Given the description of an element on the screen output the (x, y) to click on. 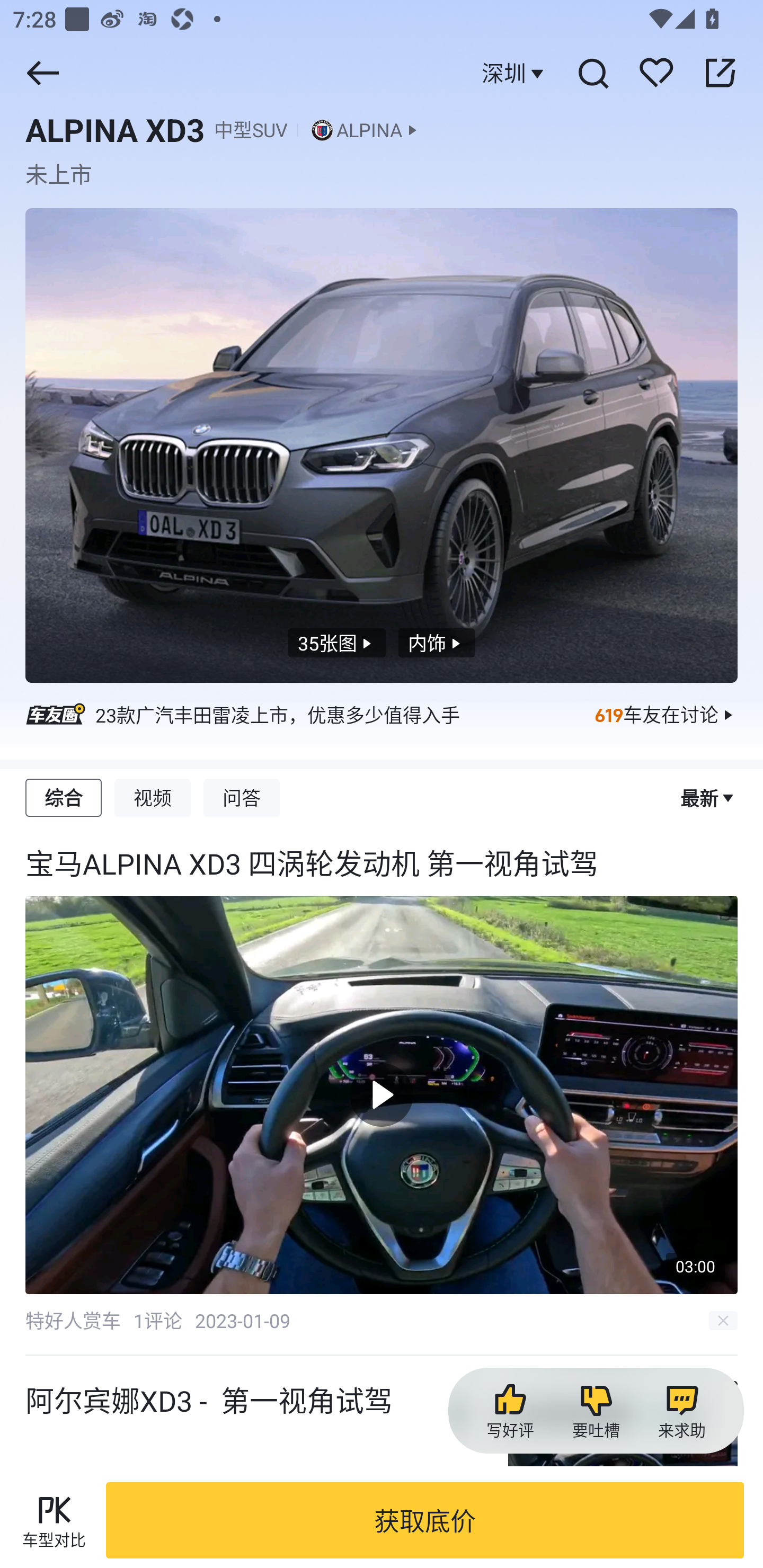
 (42, 72)
 (592, 72)
 (720, 72)
深圳 (514, 73)
ALPINA (369, 130)
35张图 (337, 642)
内饰 (436, 642)
23款广汽丰田雷凌上市，优惠多少值得入手 619车友在讨论 (381, 724)
综合 (63, 797)
视频 (152, 797)
问答 (241, 797)
最新 (702, 797)
阿尔宾娜XD3 -  第一视角试驾 (381, 1462)
写好评 (510, 1410)
要吐槽 (595, 1410)
来求助 (681, 1410)
车型对比 (53, 1520)
获取底价 (424, 1519)
